Given the description of an element on the screen output the (x, y) to click on. 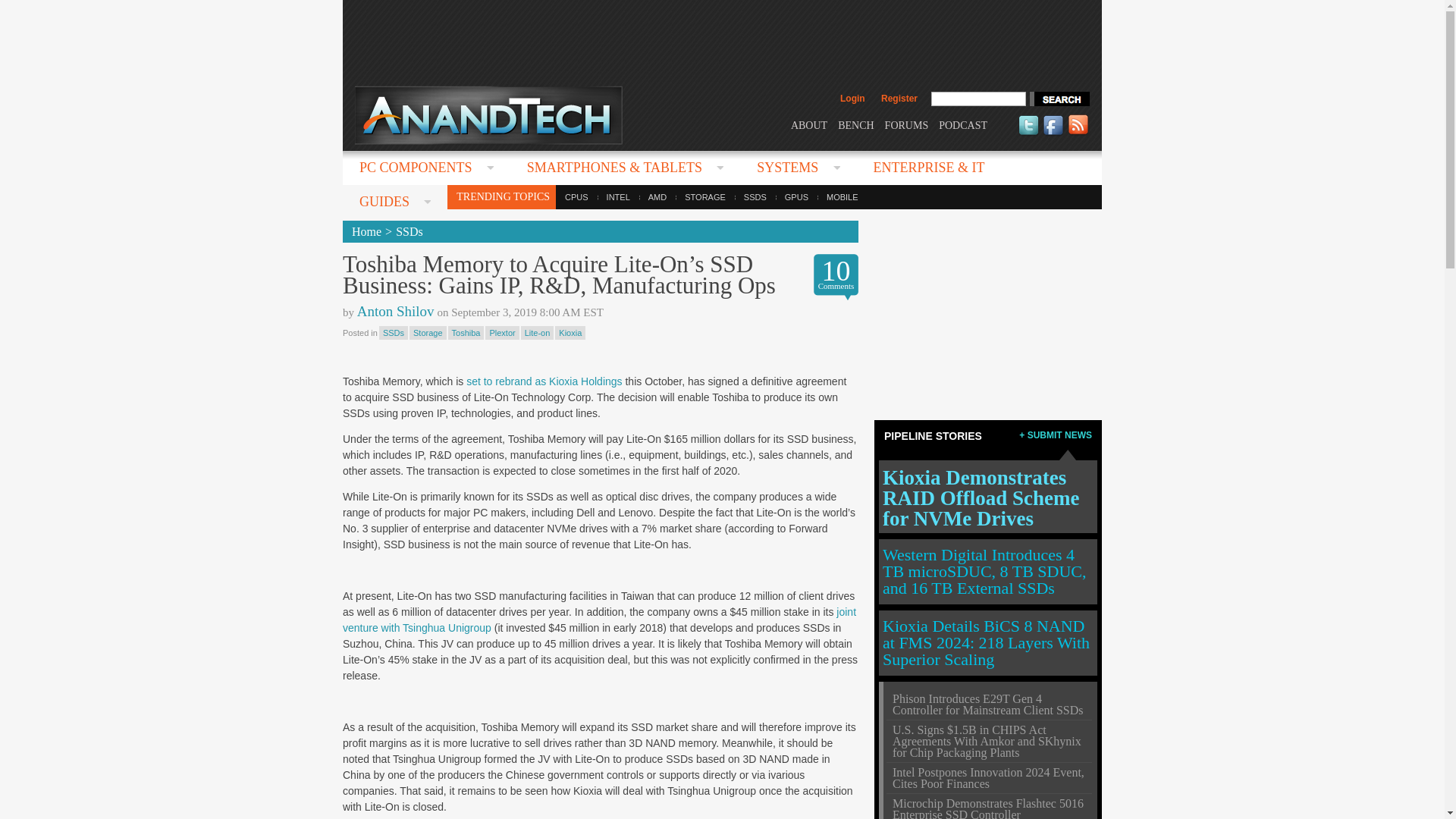
ABOUT (808, 125)
BENCH (855, 125)
FORUMS (906, 125)
search (1059, 98)
Register (898, 98)
Login (852, 98)
search (1059, 98)
PODCAST (963, 125)
search (1059, 98)
